Given the description of an element on the screen output the (x, y) to click on. 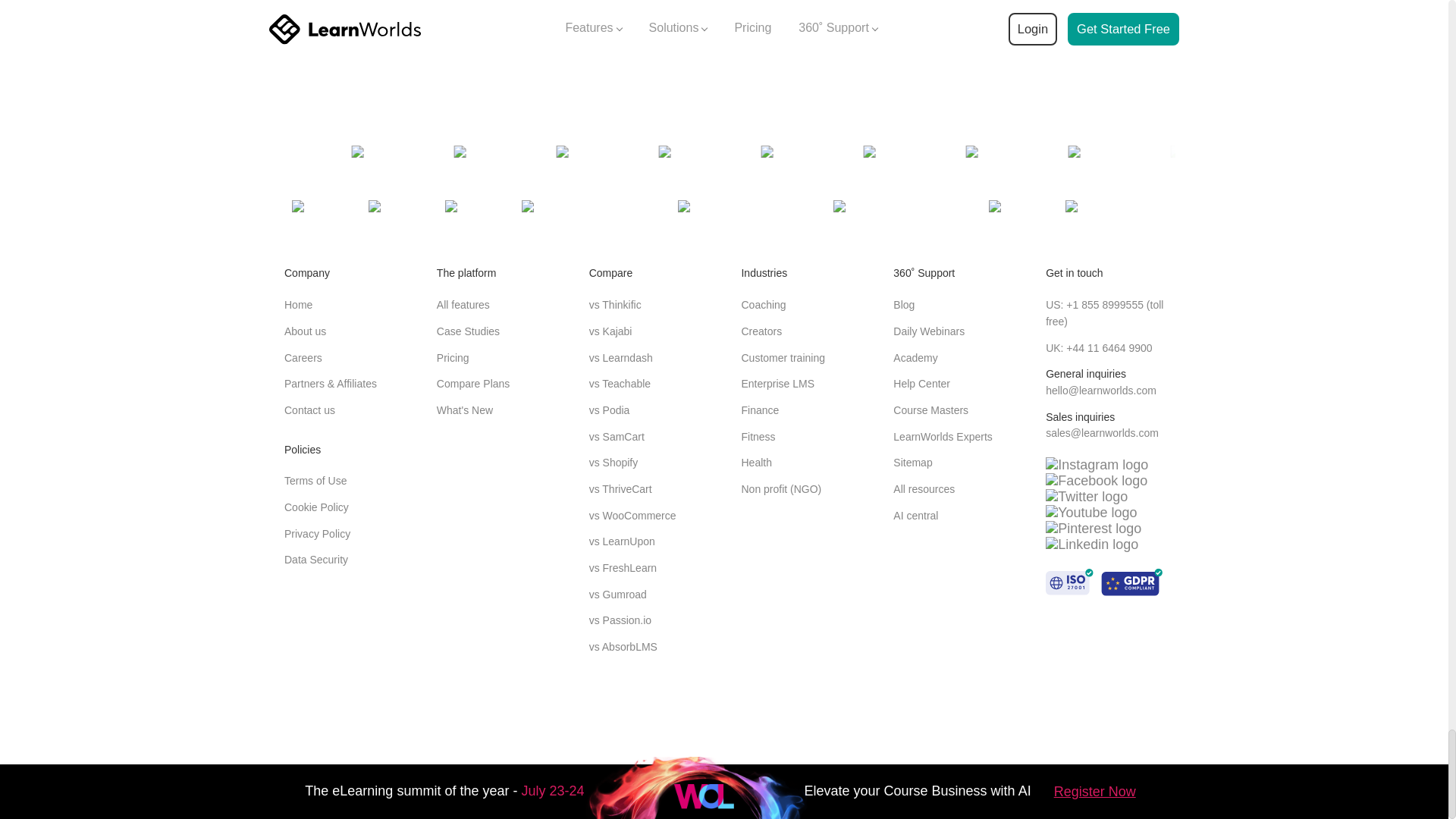
send email to LearnWorlds (1100, 390)
send email to LearnWorlds (1101, 432)
